Given the description of an element on the screen output the (x, y) to click on. 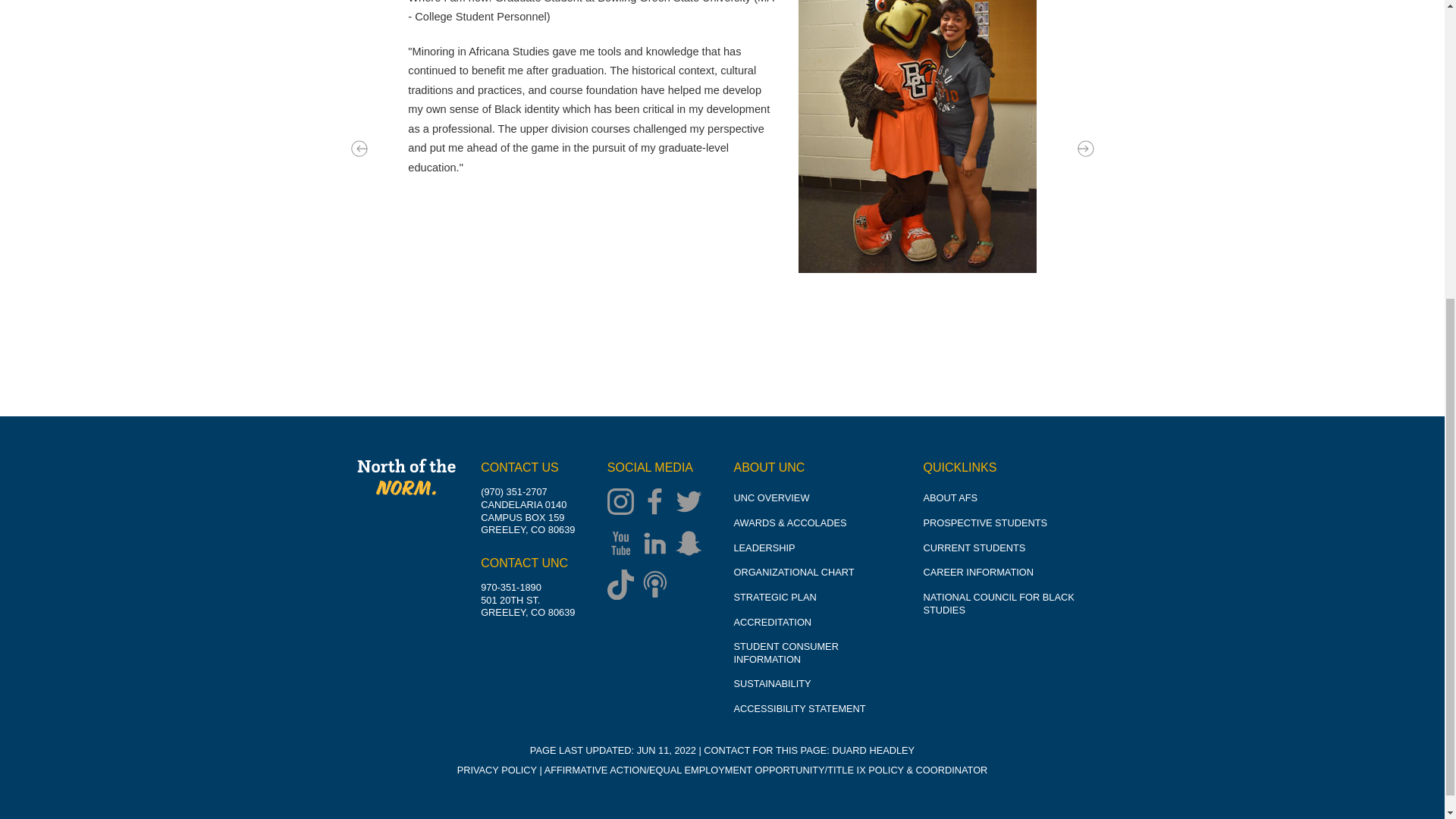
Instagram (624, 503)
Apply (418, 62)
Virtual Tour (418, 11)
YouTube (624, 544)
Facebook (658, 503)
Twitter (692, 503)
Orientation (418, 35)
Bear in Mind Podcast (658, 586)
TikTok (624, 586)
Snapchat (692, 544)
LinkedIn (658, 544)
